Given the description of an element on the screen output the (x, y) to click on. 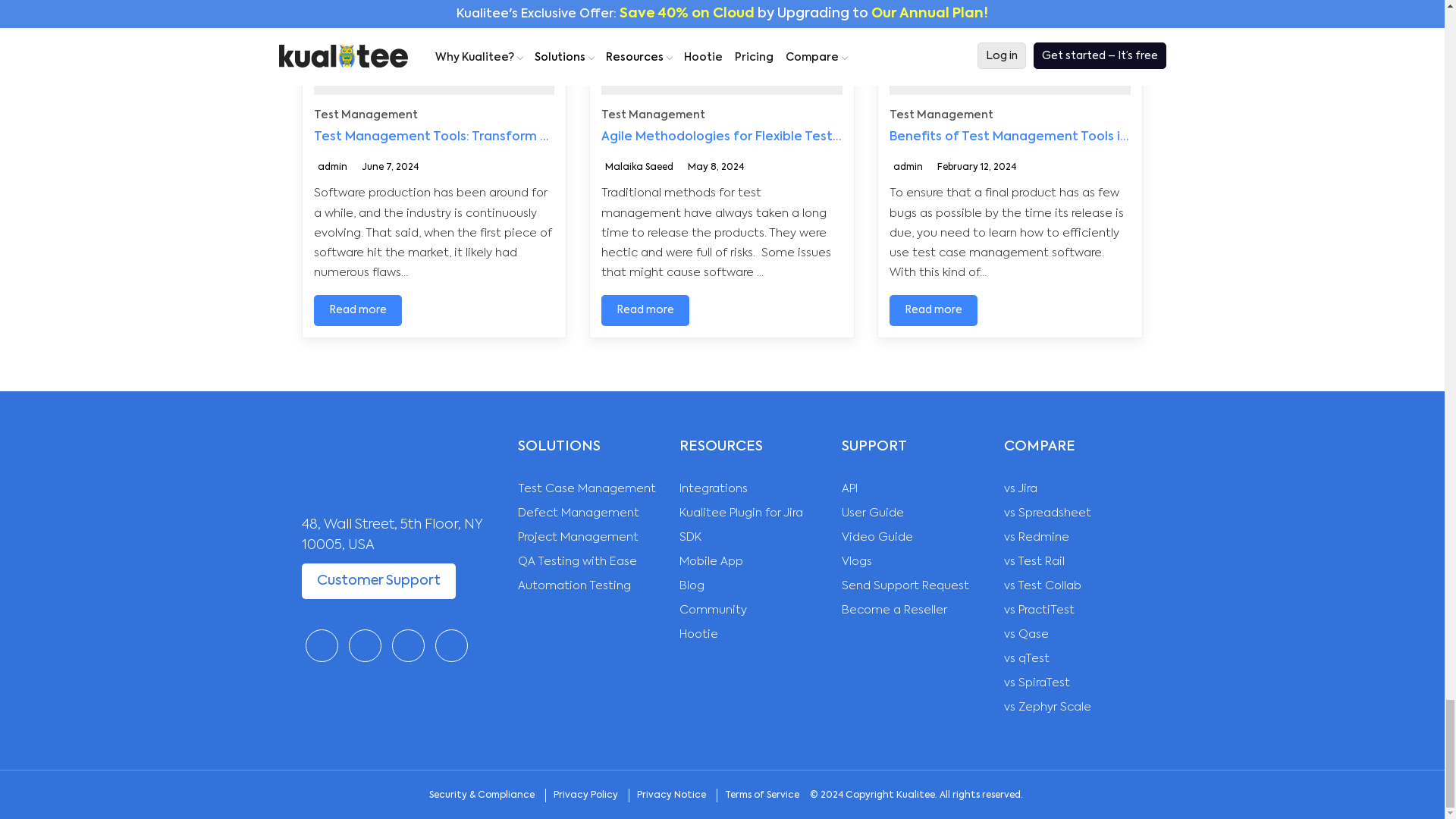
Visit linkedin Link (407, 645)
Visit youtube Link (451, 645)
Visit Twitter Link (365, 645)
Visit facebook Link (320, 645)
